Given the description of an element on the screen output the (x, y) to click on. 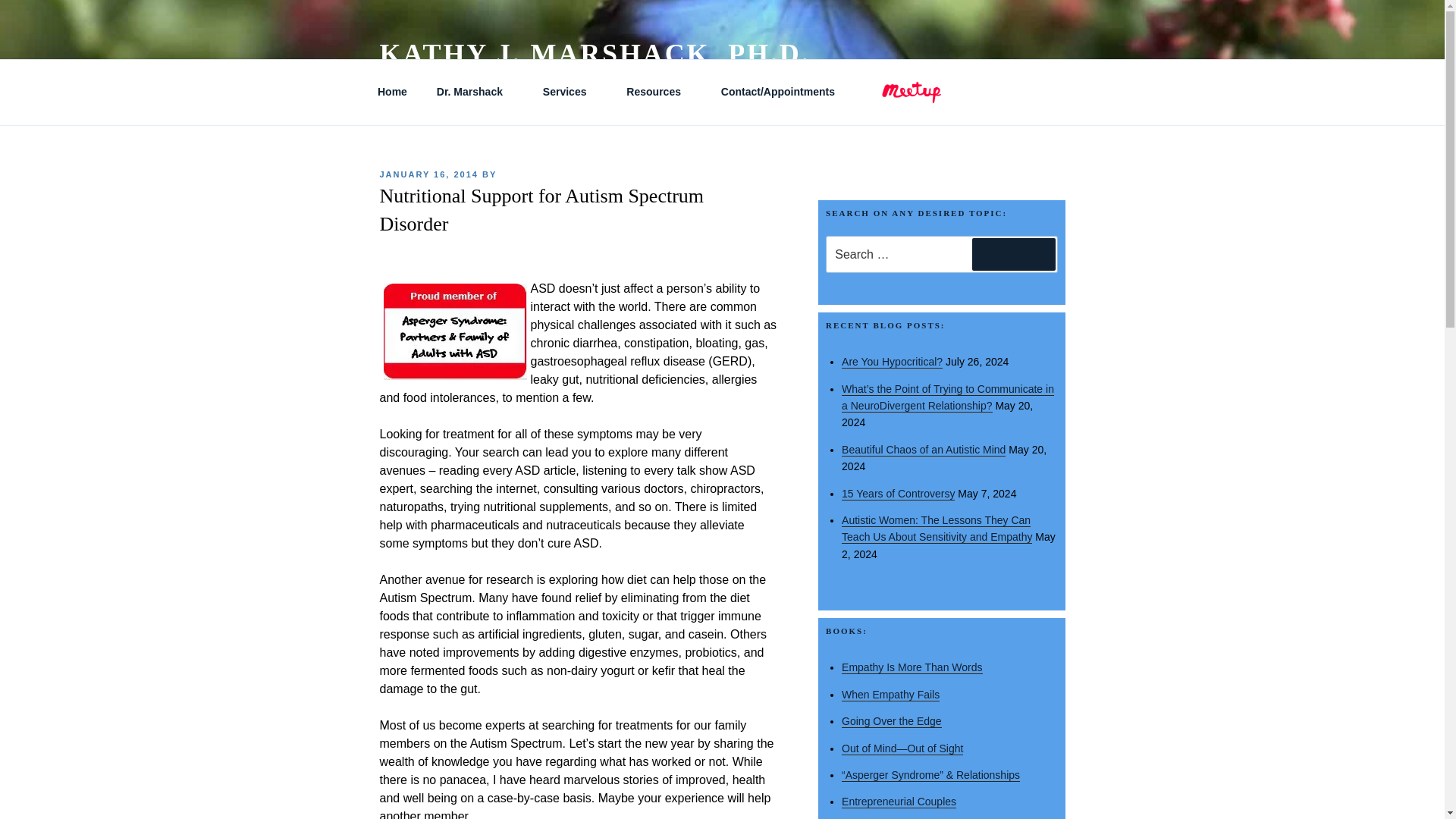
Dr. Marshack (474, 91)
Services (569, 91)
Resources (658, 91)
Home (392, 91)
KATHY J. MARSHACK, PH.D. (593, 53)
